Given the description of an element on the screen output the (x, y) to click on. 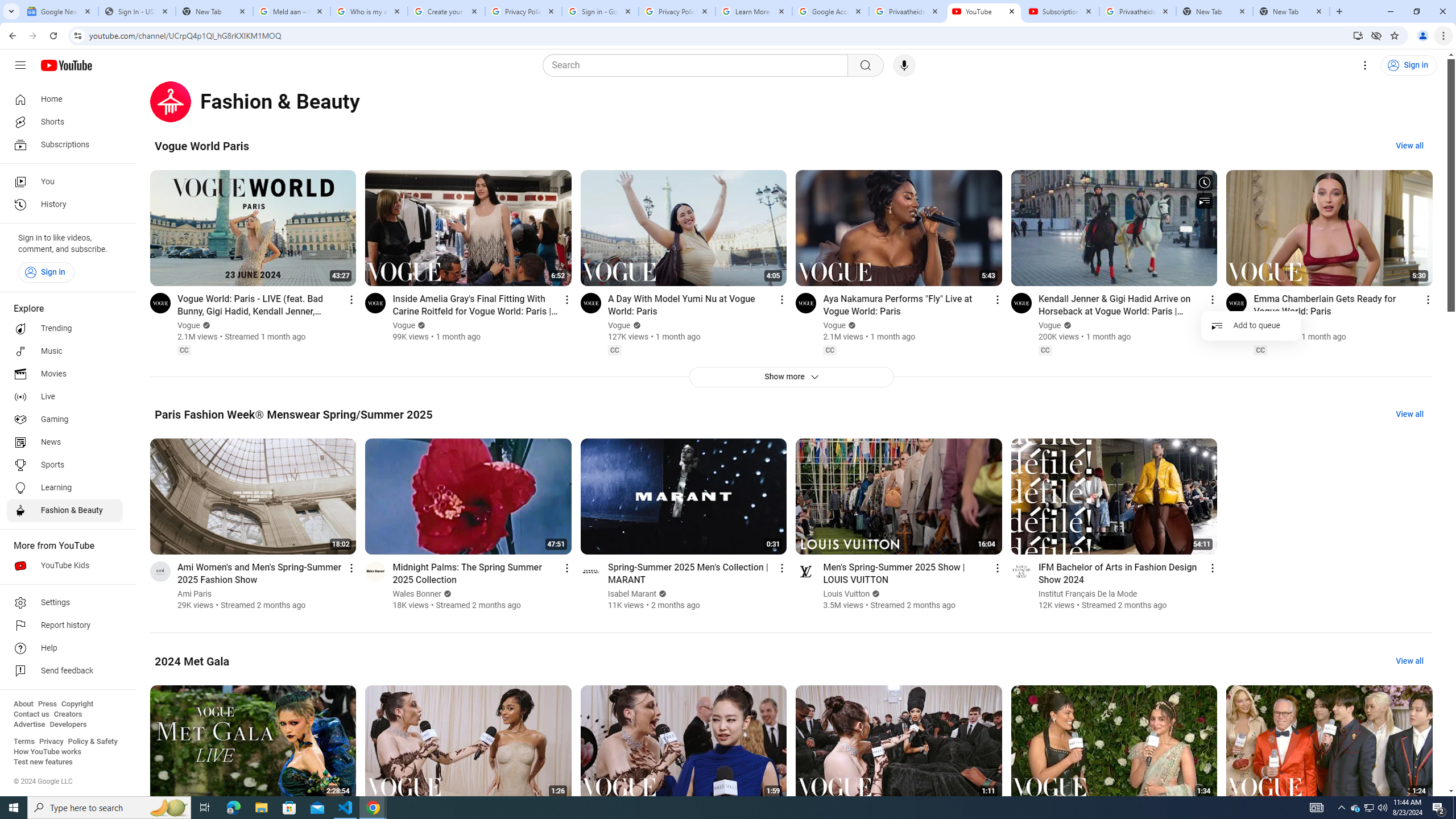
Music (64, 350)
Movies (64, 373)
Help (64, 648)
Advertise (29, 724)
Go to channel (1021, 571)
Privacy (51, 741)
Ami Paris (194, 594)
Creators (67, 714)
Wales Bonner (417, 594)
